Given the description of an element on the screen output the (x, y) to click on. 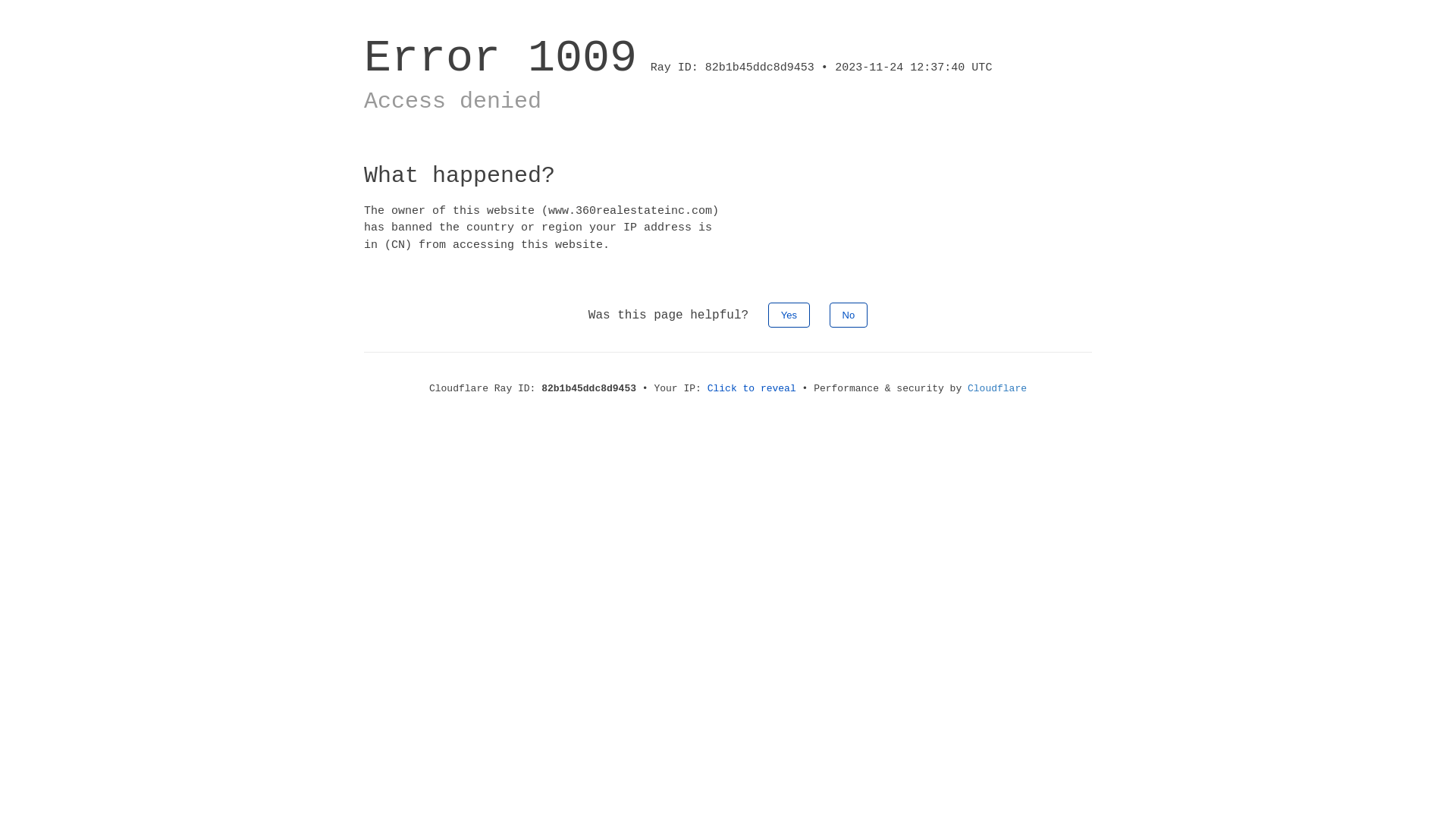
Cloudflare Element type: text (996, 388)
Yes Element type: text (788, 314)
No Element type: text (848, 314)
Click to reveal Element type: text (751, 388)
